Given the description of an element on the screen output the (x, y) to click on. 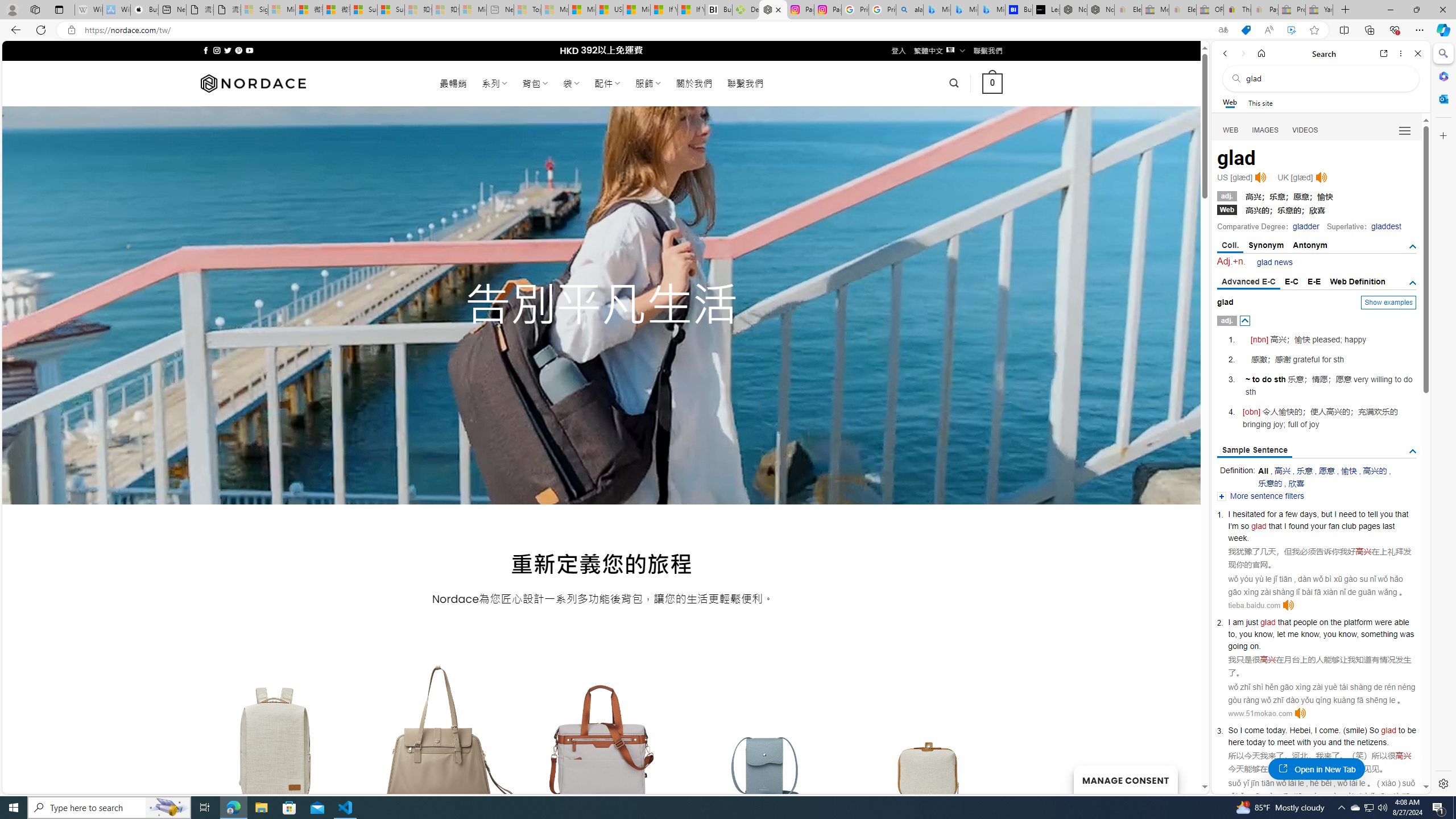
the (1349, 741)
Payments Terms of Use | eBay.com - Sleeping (1264, 9)
Follow on Instagram (216, 50)
